Given the description of an element on the screen output the (x, y) to click on. 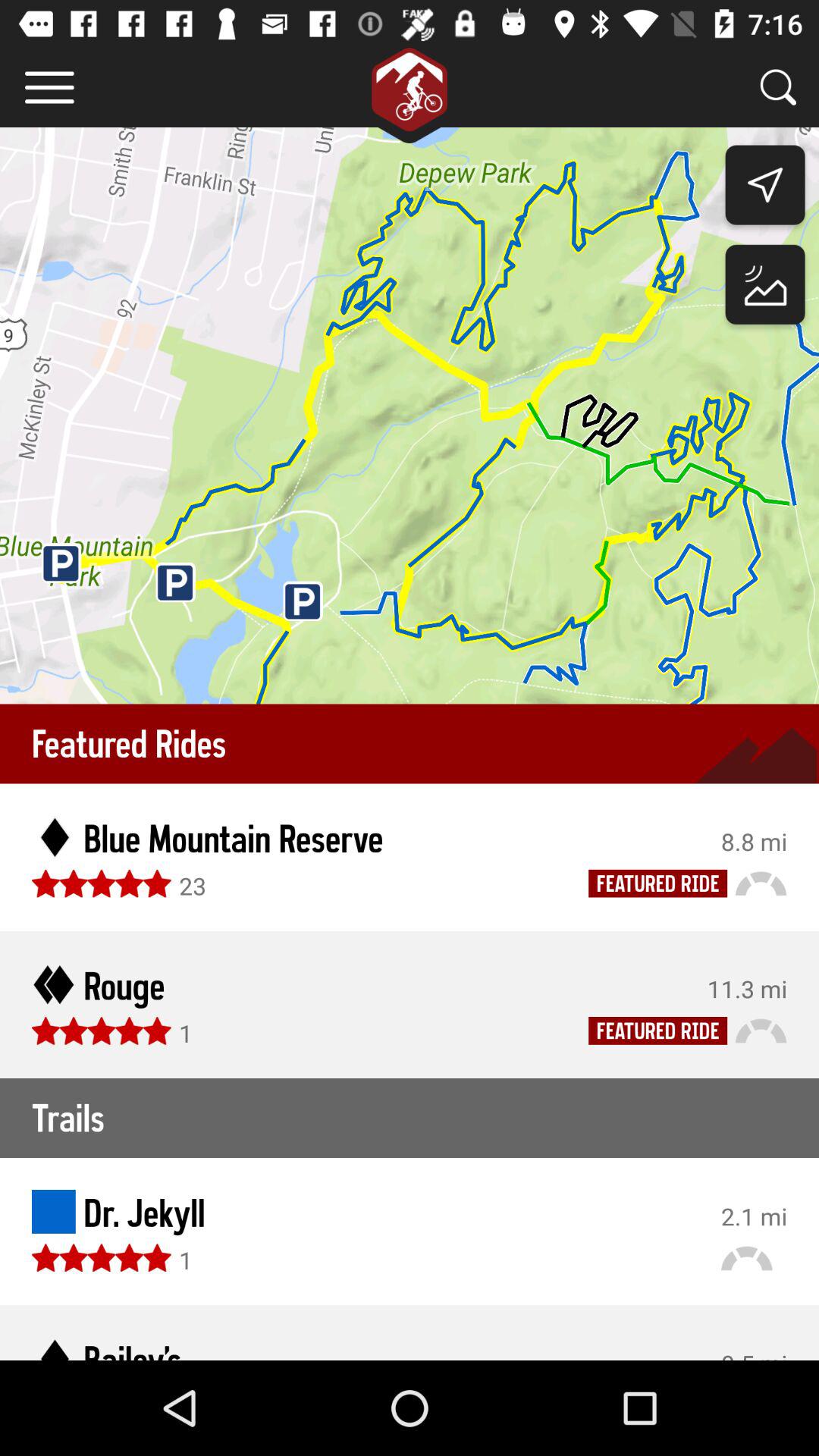
select the speed symbol which is right side of the blue mountain reserve (761, 882)
click on button below navigation button (765, 288)
click on the navigation icon below search bar (765, 188)
click on the dark shaded portion beside rides (755, 756)
